Given the description of an element on the screen output the (x, y) to click on. 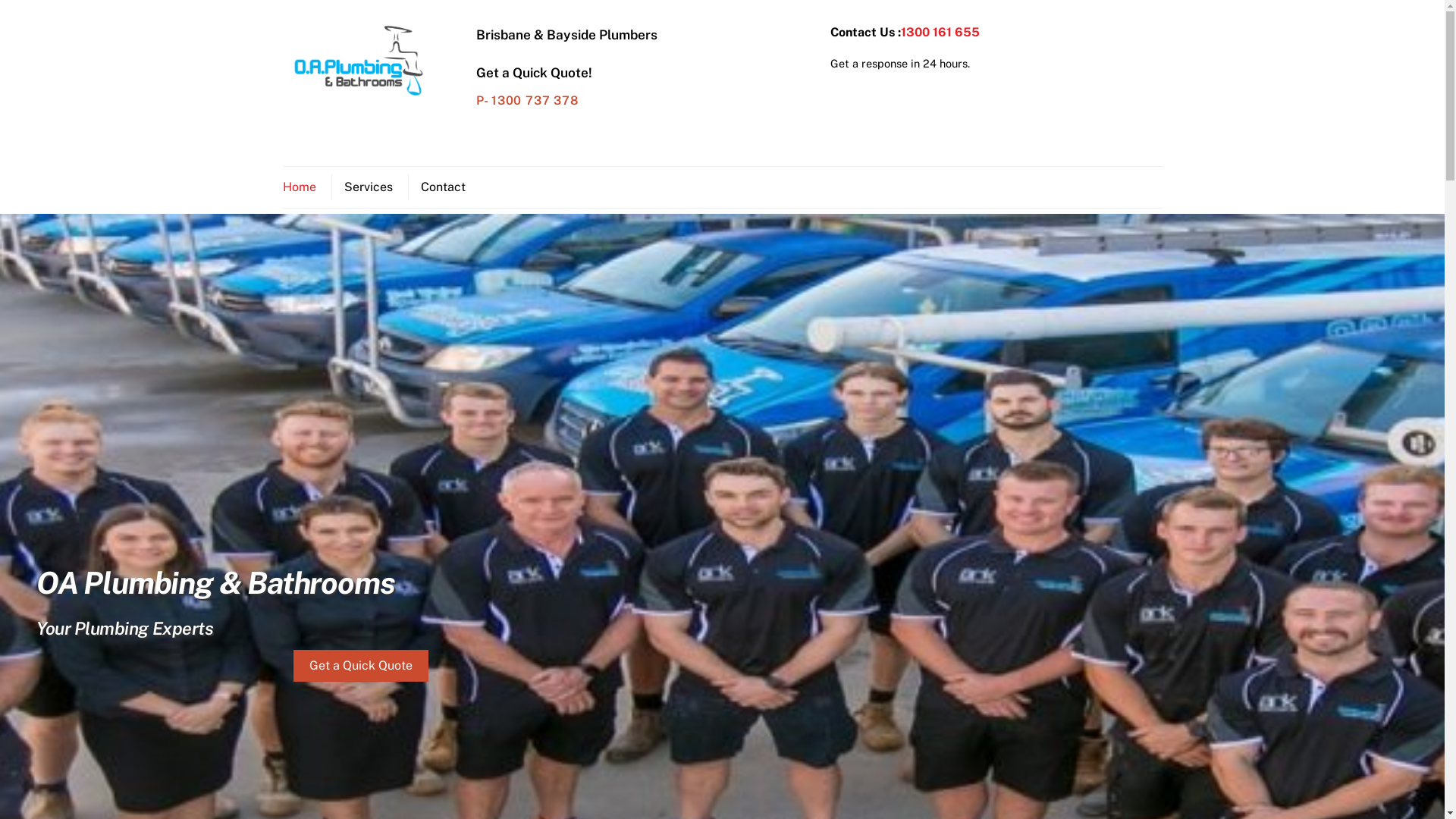
Brisbane Plumbers Capalaba - OA Plumbing - Local Experts Element type: hover (357, 95)
Get a Quick Quote Element type: text (360, 665)
Home Element type: text (304, 187)
Services Element type: text (367, 187)
oa logo Element type: hover (357, 60)
1300 161 655 Element type: text (939, 32)
Contact Element type: text (442, 187)
P- 1300 737 378 Element type: text (527, 100)
